Given the description of an element on the screen output the (x, y) to click on. 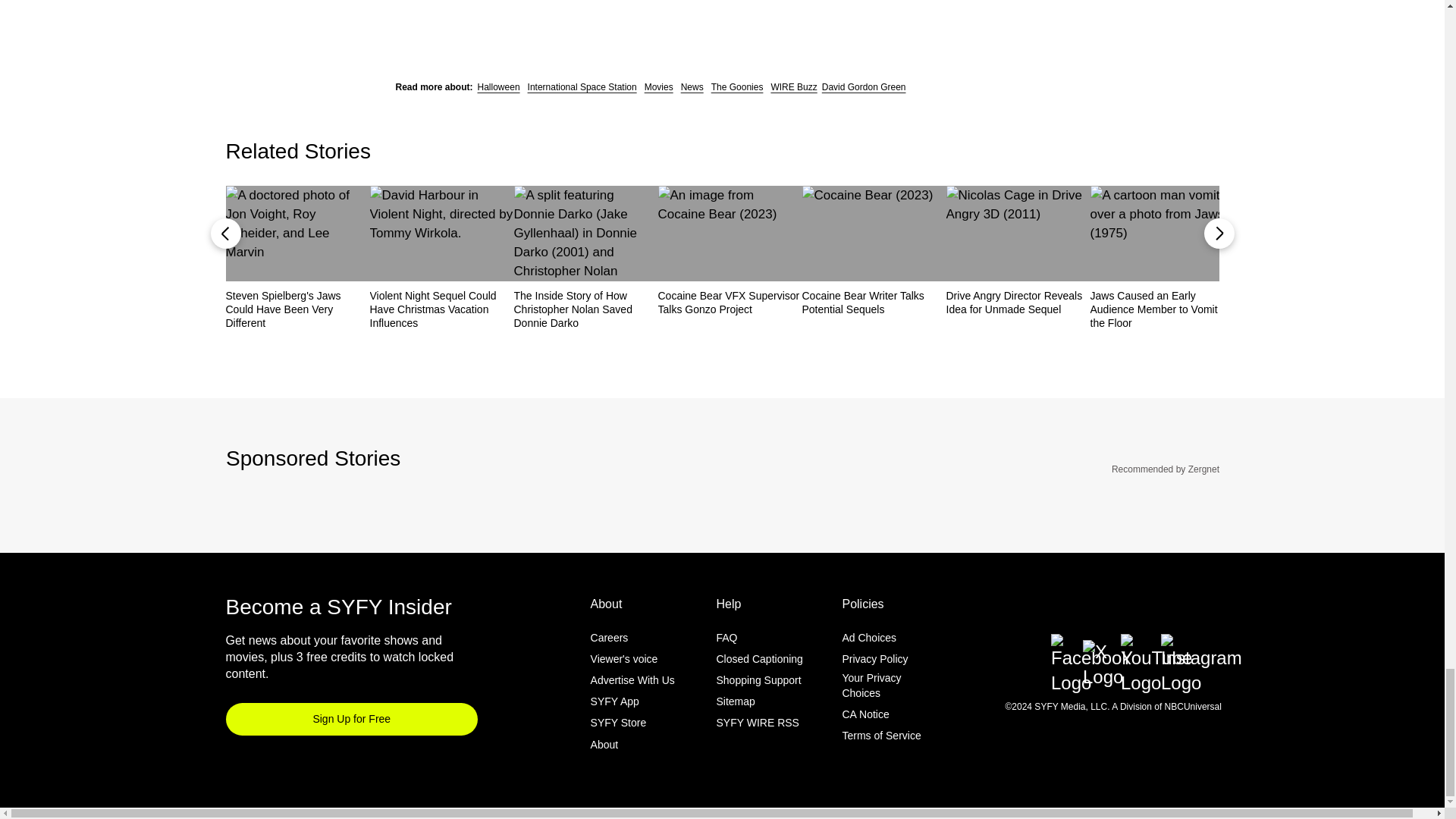
Halloween (498, 86)
